Given the description of an element on the screen output the (x, y) to click on. 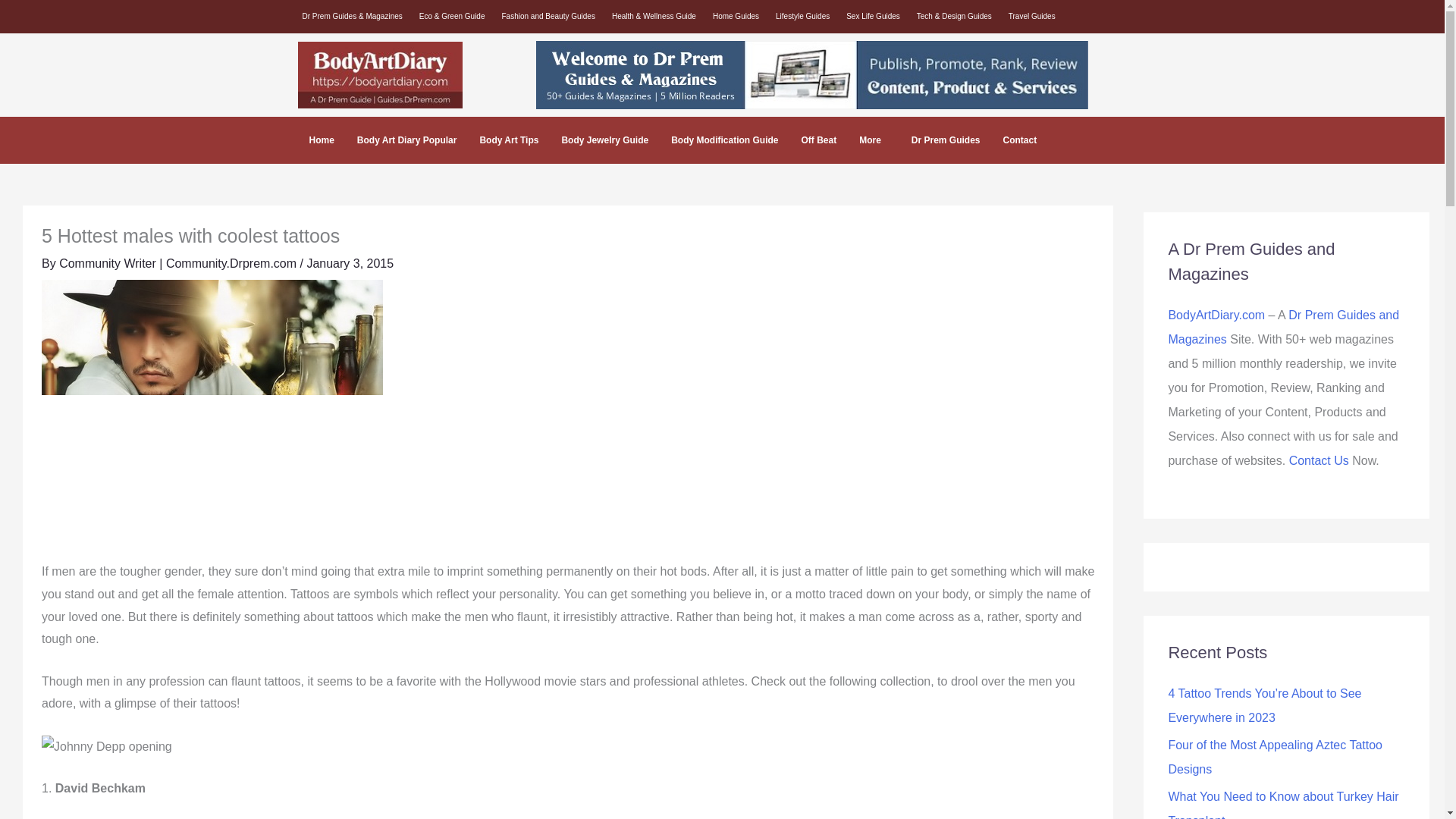
Lifestyle Guides (806, 16)
Home Guides (739, 16)
Johnny Depp opening (106, 746)
Fashion and Beauty Guides (552, 16)
